Given the description of an element on the screen output the (x, y) to click on. 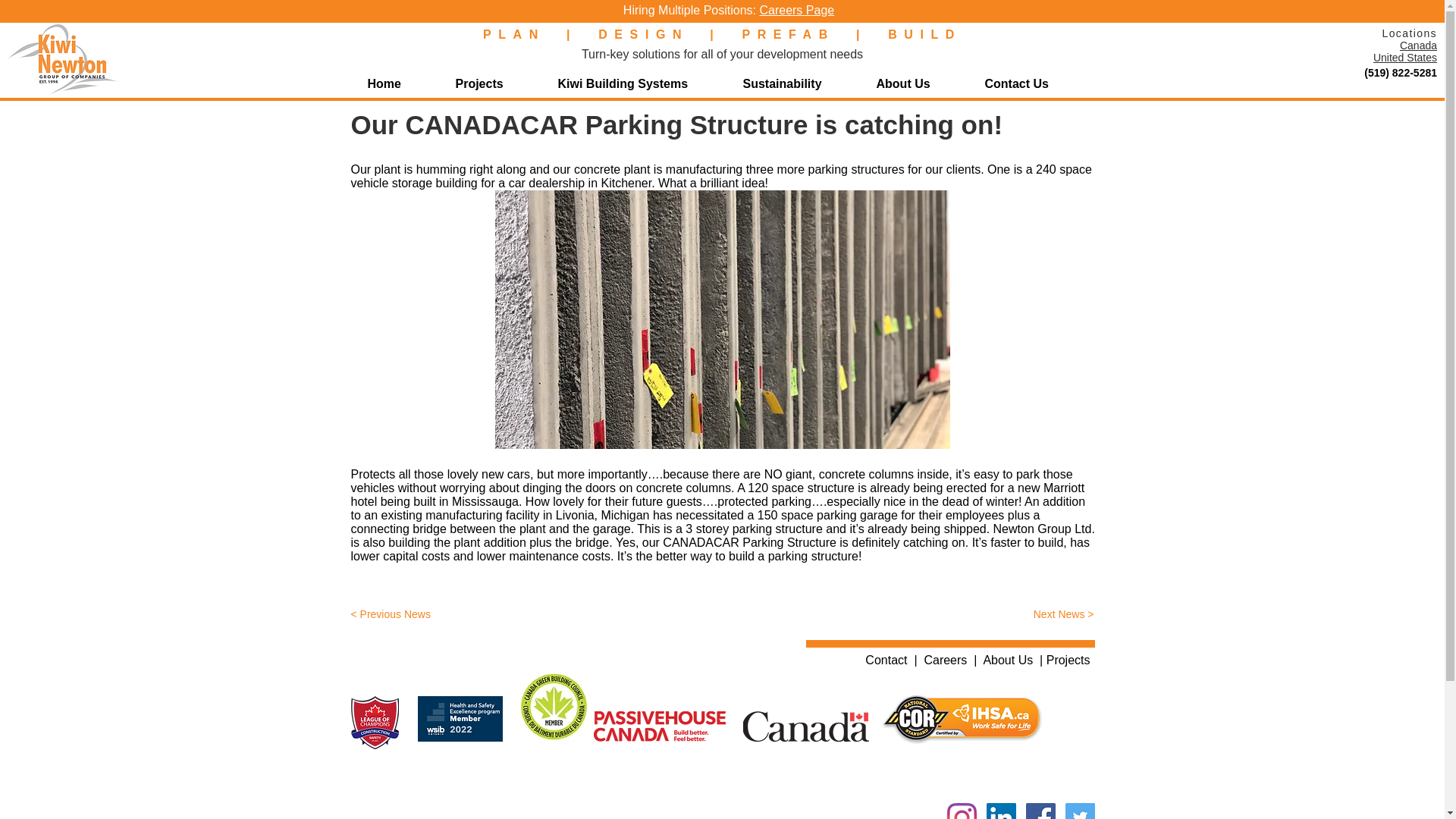
Contact (885, 659)
logo-en.png (658, 726)
About Us (1007, 659)
Careers (944, 659)
Sustainability (797, 83)
HSEPBadgeNavyMember202007116x4.png (462, 719)
About Us (918, 83)
Careers Page (796, 10)
Kiwi Building Systems (638, 83)
Canada (1418, 45)
Home (400, 83)
Contact Us (1030, 83)
Projects (1068, 659)
Projects (493, 83)
United States (1405, 57)
